Given the description of an element on the screen output the (x, y) to click on. 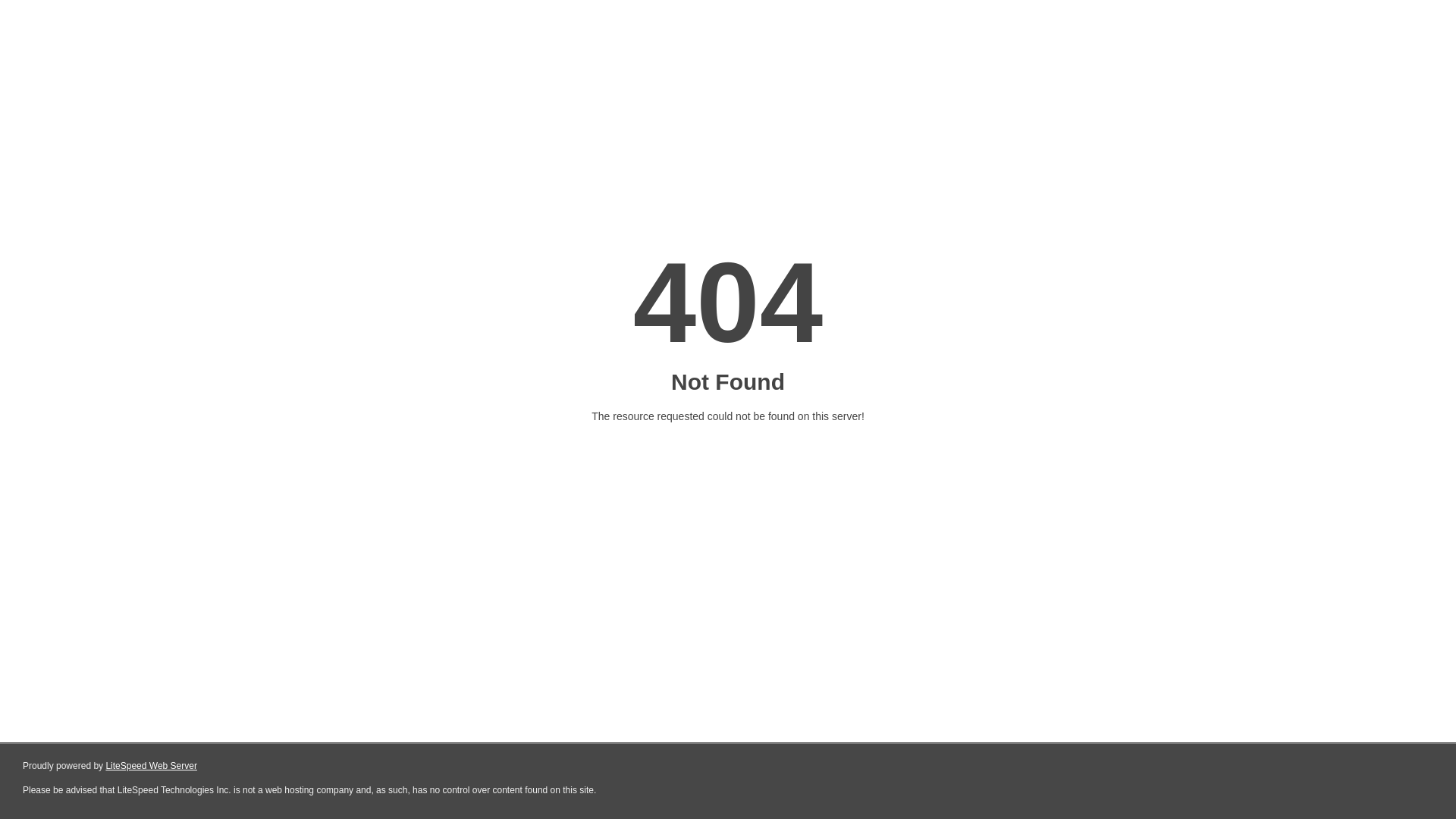
LiteSpeed Web Server Element type: text (151, 765)
